Given the description of an element on the screen output the (x, y) to click on. 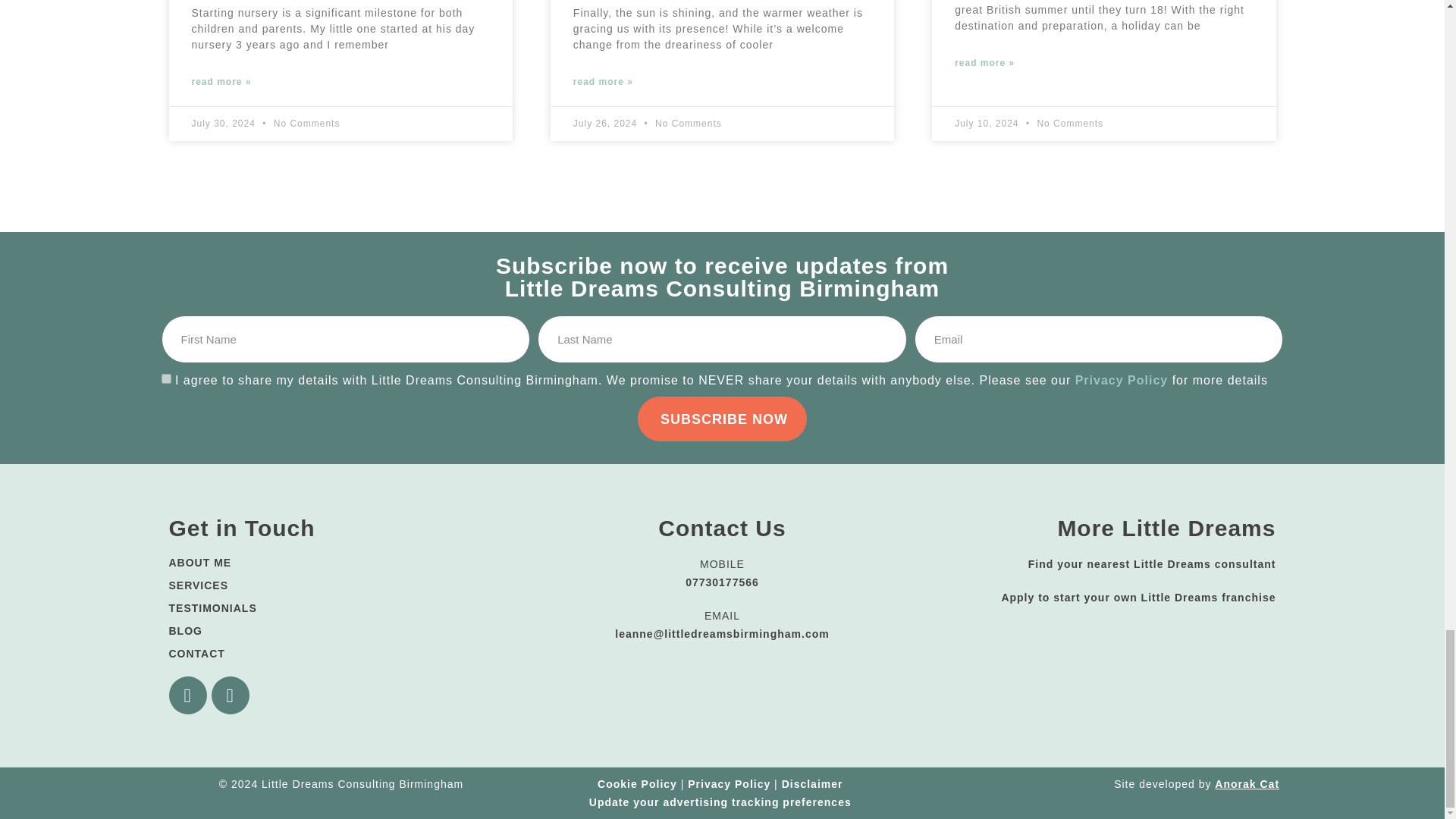
on (165, 378)
